Given the description of an element on the screen output the (x, y) to click on. 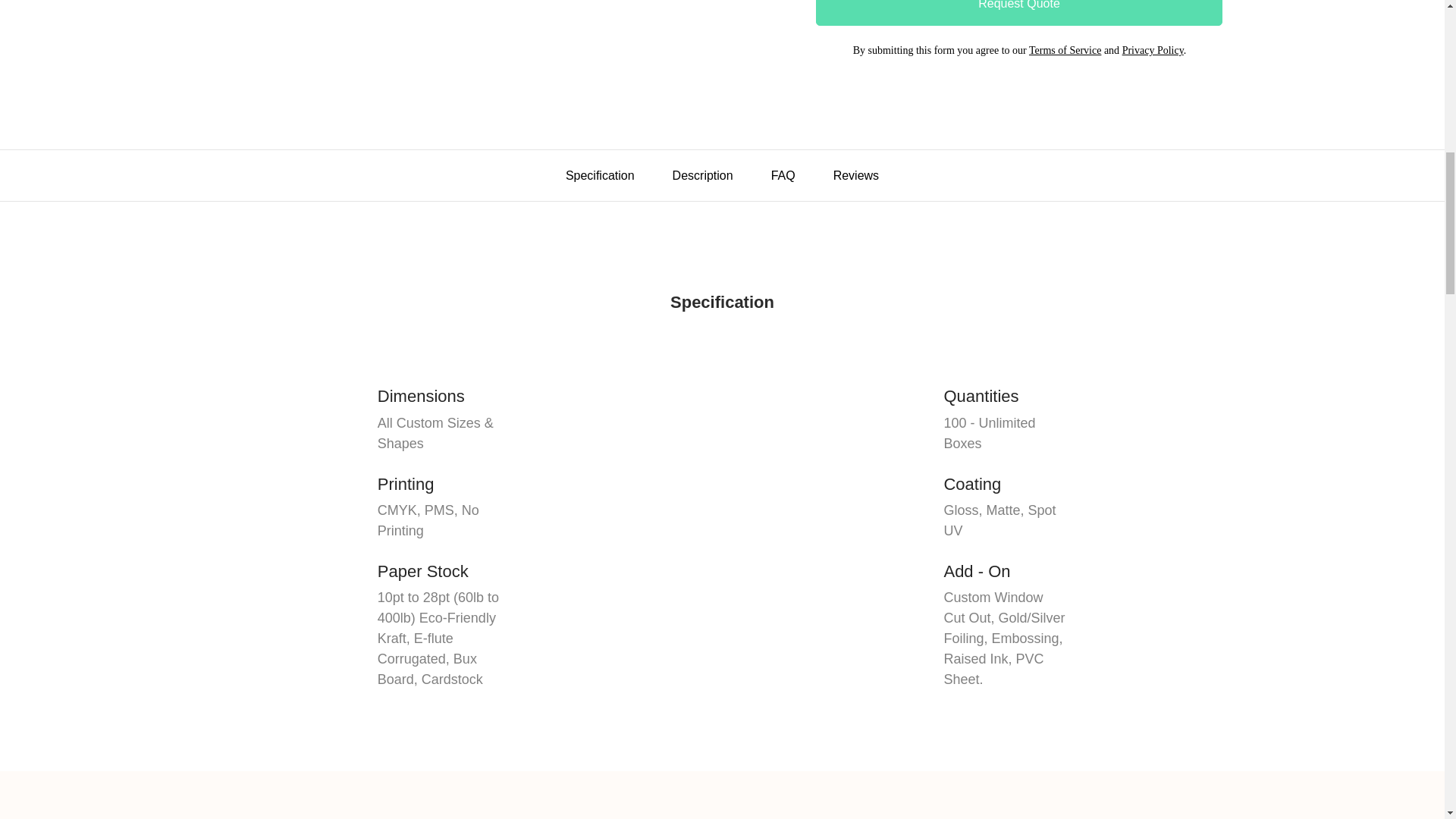
Request Quote (1019, 12)
